Given the description of an element on the screen output the (x, y) to click on. 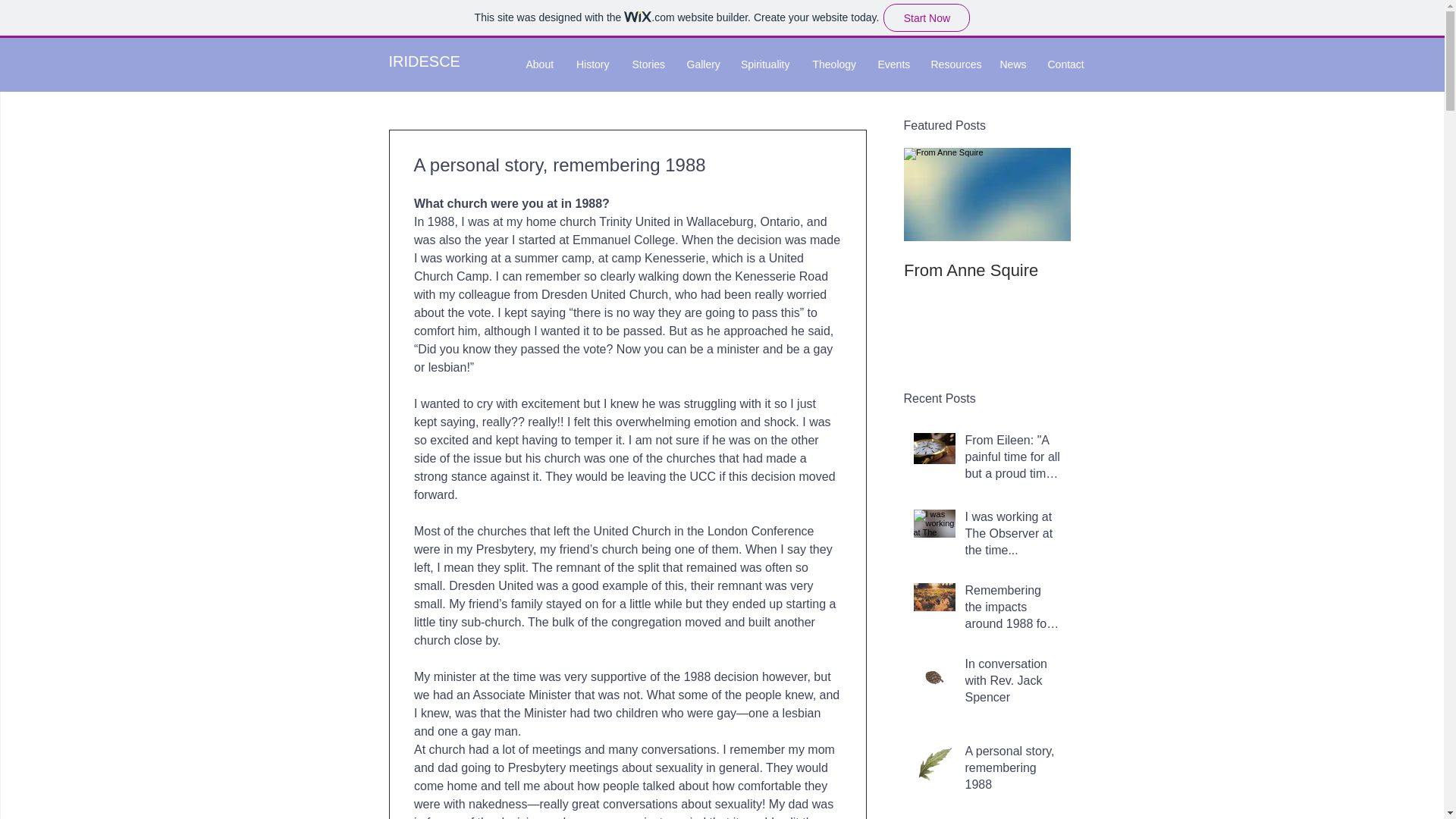
From Anne Squire (987, 270)
I was working at The Observer at the time... (1012, 536)
Spirituality (764, 63)
IRIDESCE (424, 61)
History (592, 63)
About (538, 63)
A personal story, remembering 1988 (1012, 771)
Resources (953, 63)
Theology (833, 63)
Stories (647, 63)
Contact (1064, 63)
Events (892, 63)
From Eileen: "A painful time for all but a proud time too" (1012, 460)
Gallery (701, 63)
News (1012, 63)
